Given the description of an element on the screen output the (x, y) to click on. 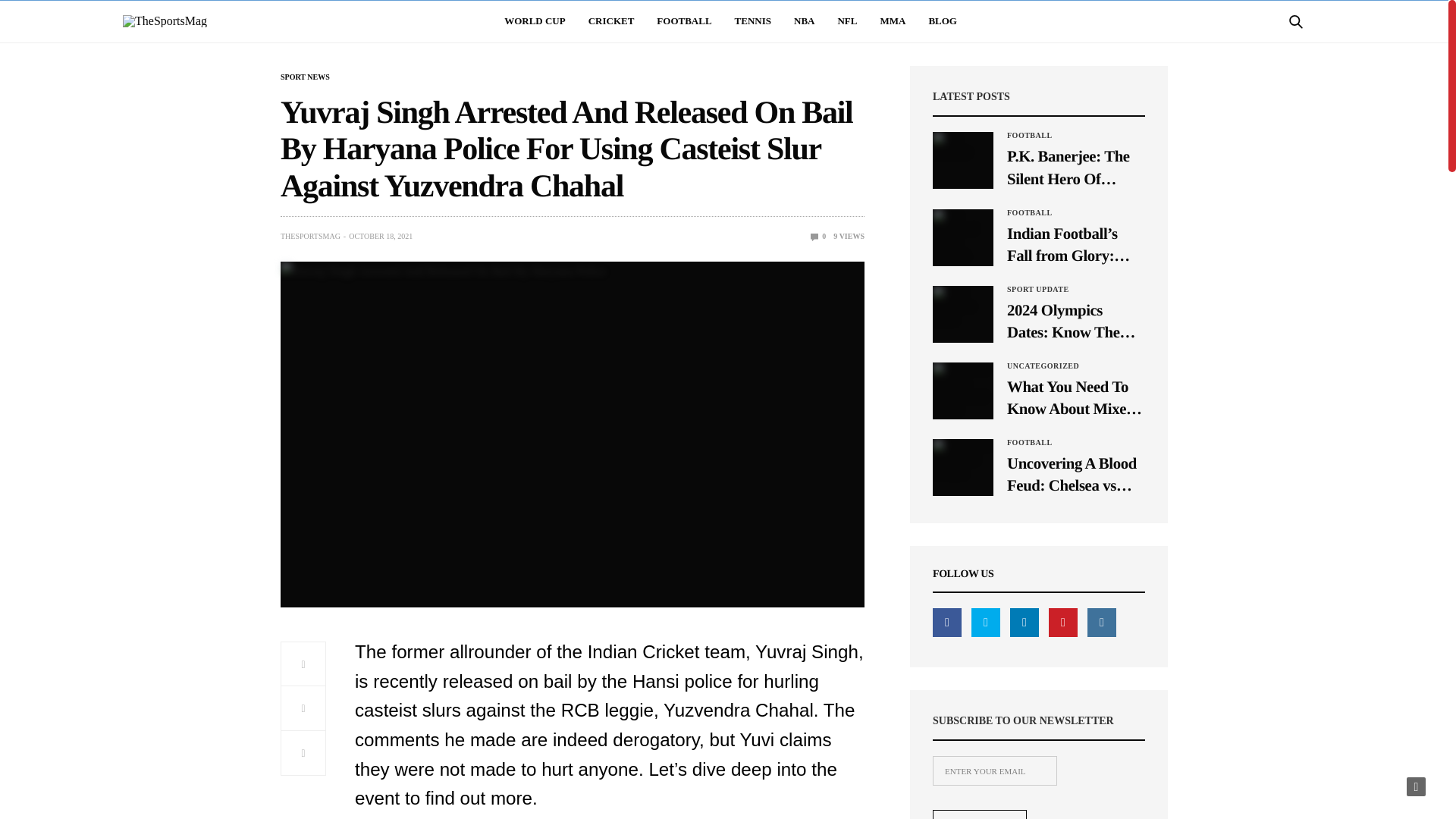
0 (818, 235)
NFL (847, 21)
FOOTBALL (683, 21)
Posts by TheSportsMag (310, 236)
Football (1029, 213)
NBA (803, 21)
SPORT NEWS (305, 77)
WORLD CUP (534, 21)
Search (1276, 63)
THESPORTSMAG (310, 236)
P.K. Banerjee: The Silent Hero Of Indian Football (1075, 167)
P.K. Banerjee: The Silent Hero Of Indian Football (962, 160)
CRICKET (611, 21)
TENNIS (753, 21)
